Given the description of an element on the screen output the (x, y) to click on. 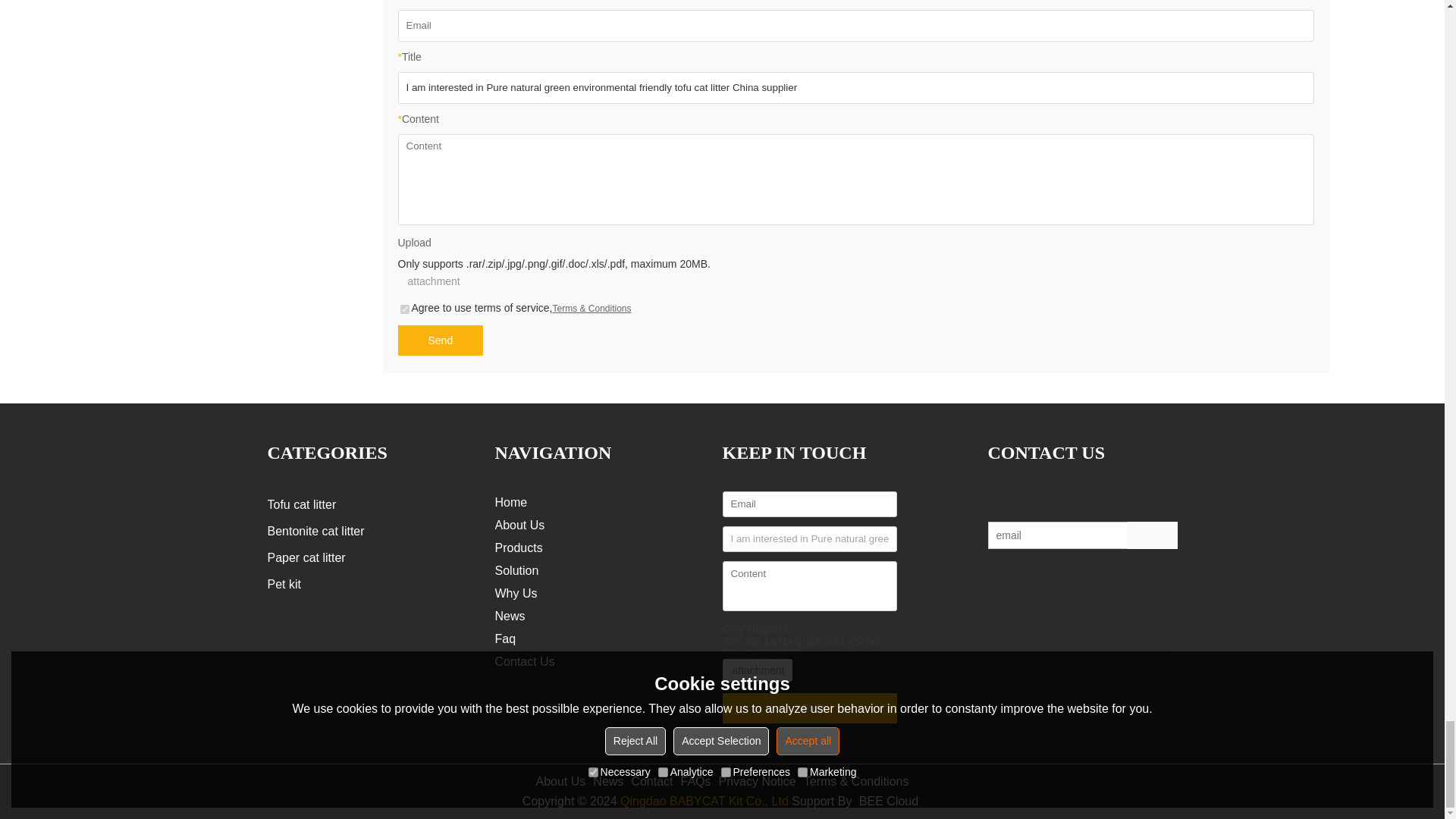
on (404, 308)
